Given the description of an element on the screen output the (x, y) to click on. 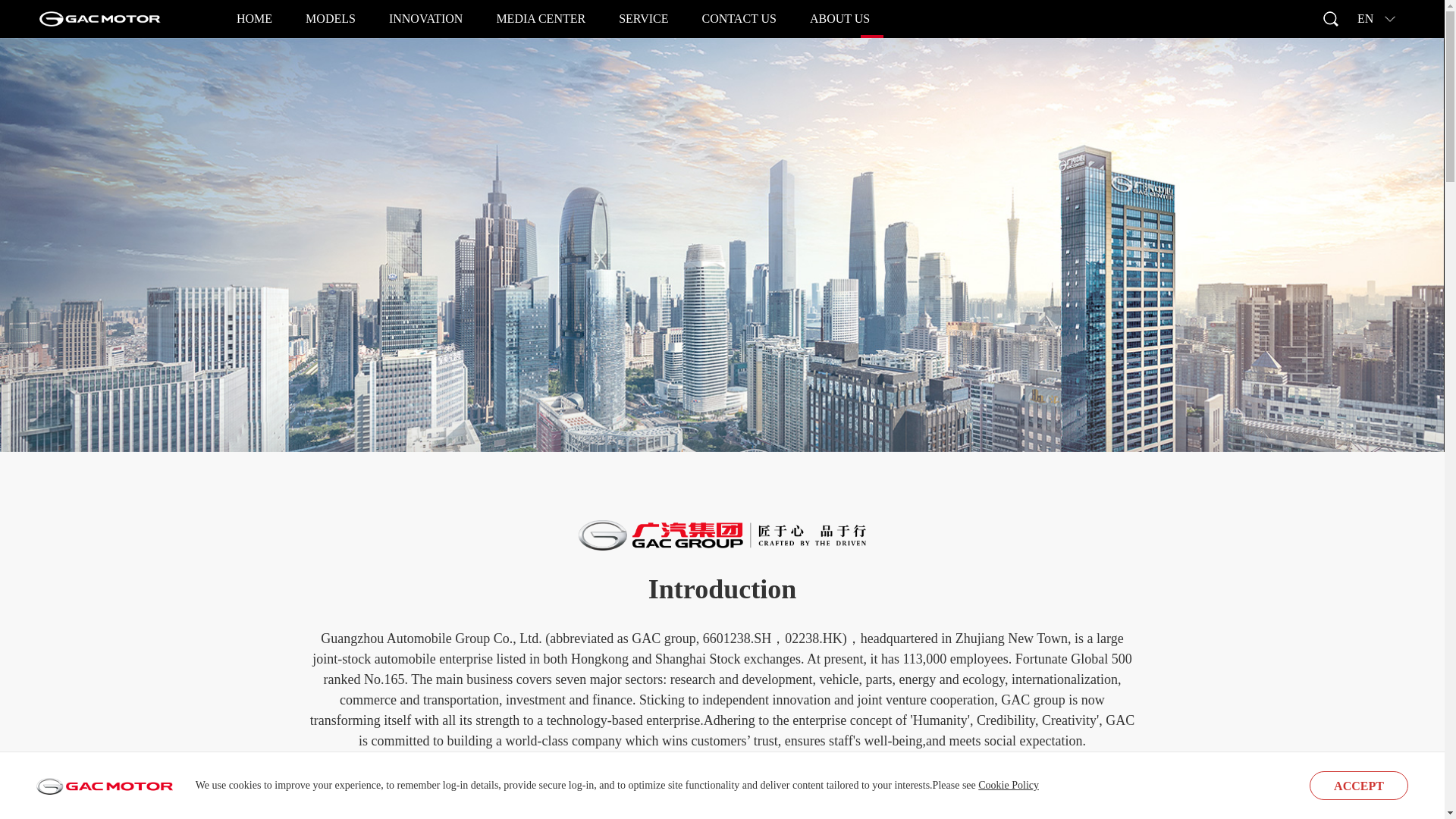
HOME (253, 18)
EN (1375, 18)
CONTACT US (738, 18)
INNOVATION (425, 18)
MEDIA CENTER (540, 18)
ABOUT US (839, 18)
SERVICE (643, 18)
MODELS (330, 18)
